Given the description of an element on the screen output the (x, y) to click on. 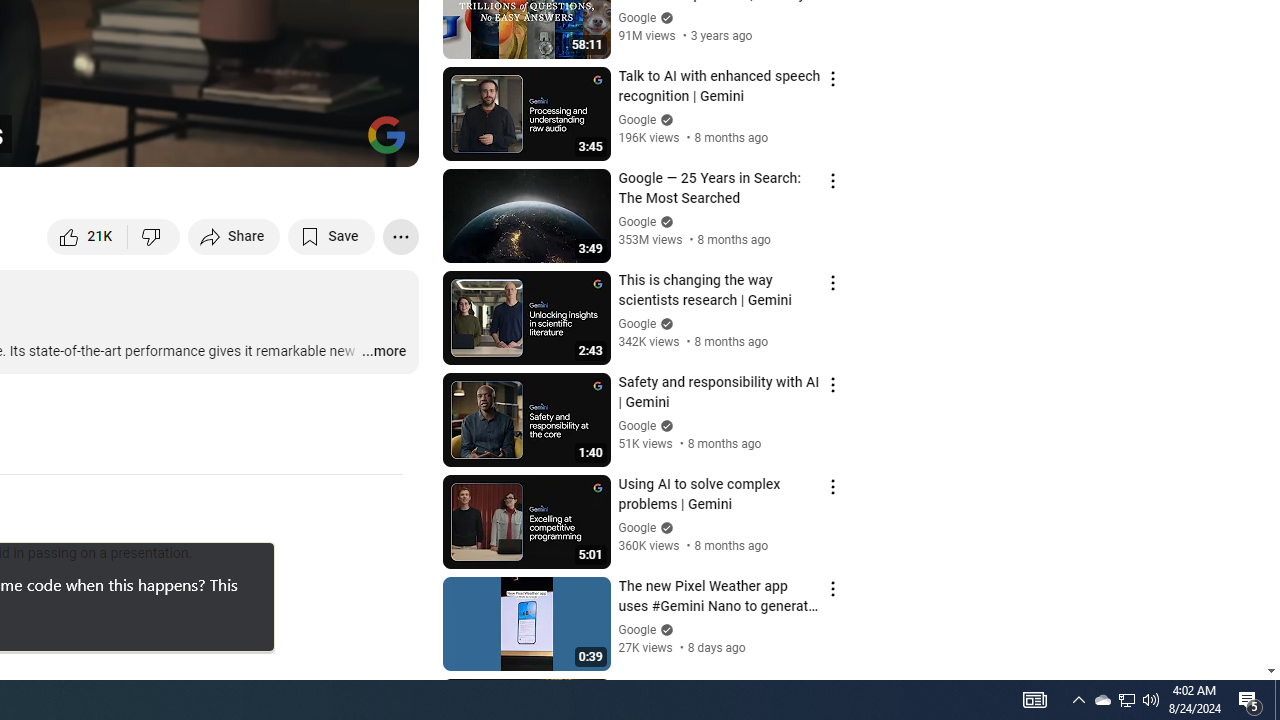
Theater mode (t) (333, 142)
Save to playlist (331, 236)
Channel watermark (386, 134)
...more (382, 352)
Channel watermark (386, 134)
Verified (664, 629)
Action menu (832, 690)
Share (234, 236)
Miniplayer (i) (286, 142)
Subtitles/closed captions unavailable (190, 142)
More actions (399, 236)
